Given the description of an element on the screen output the (x, y) to click on. 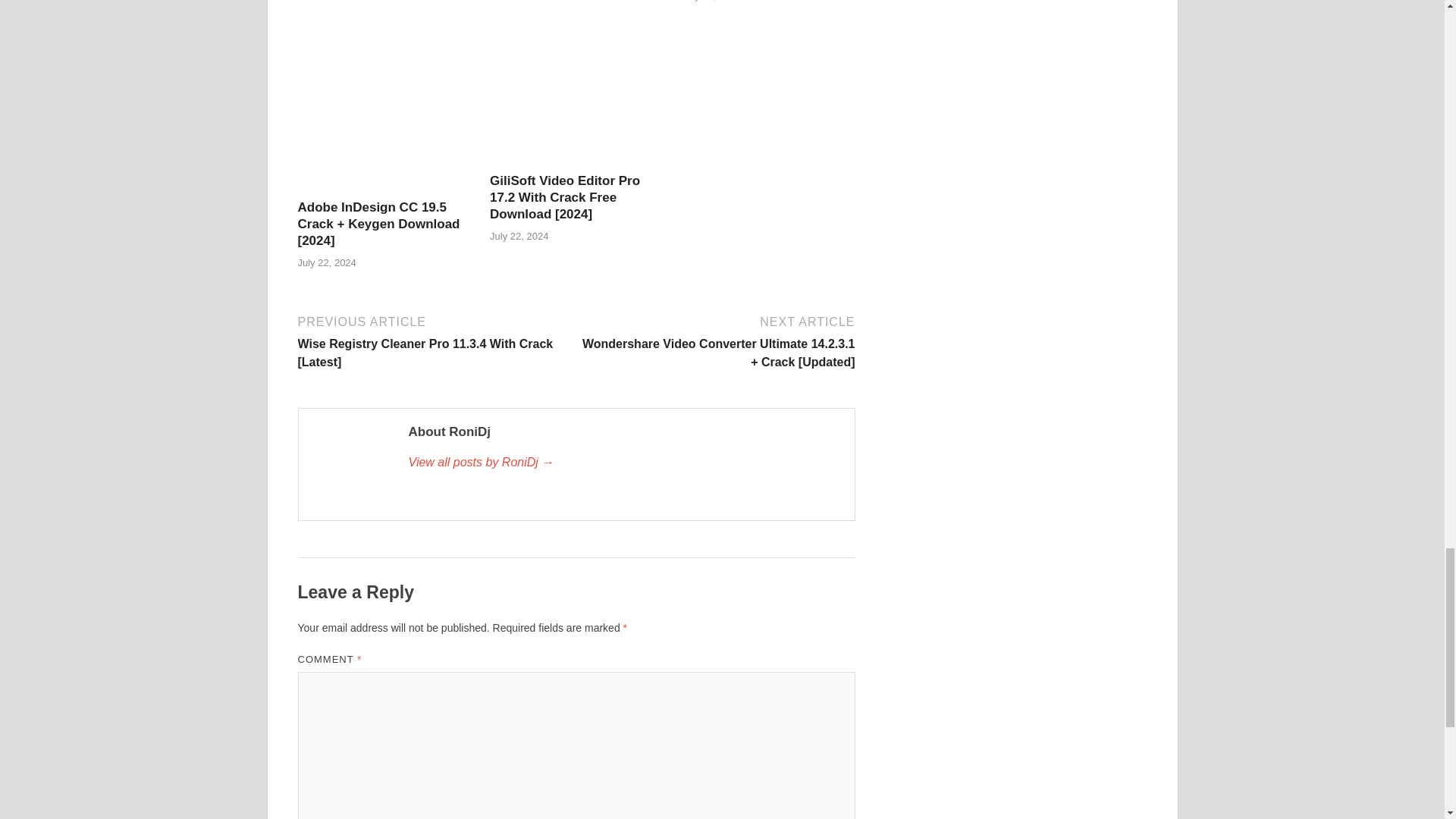
RoniDj (622, 462)
